Given the description of an element on the screen output the (x, y) to click on. 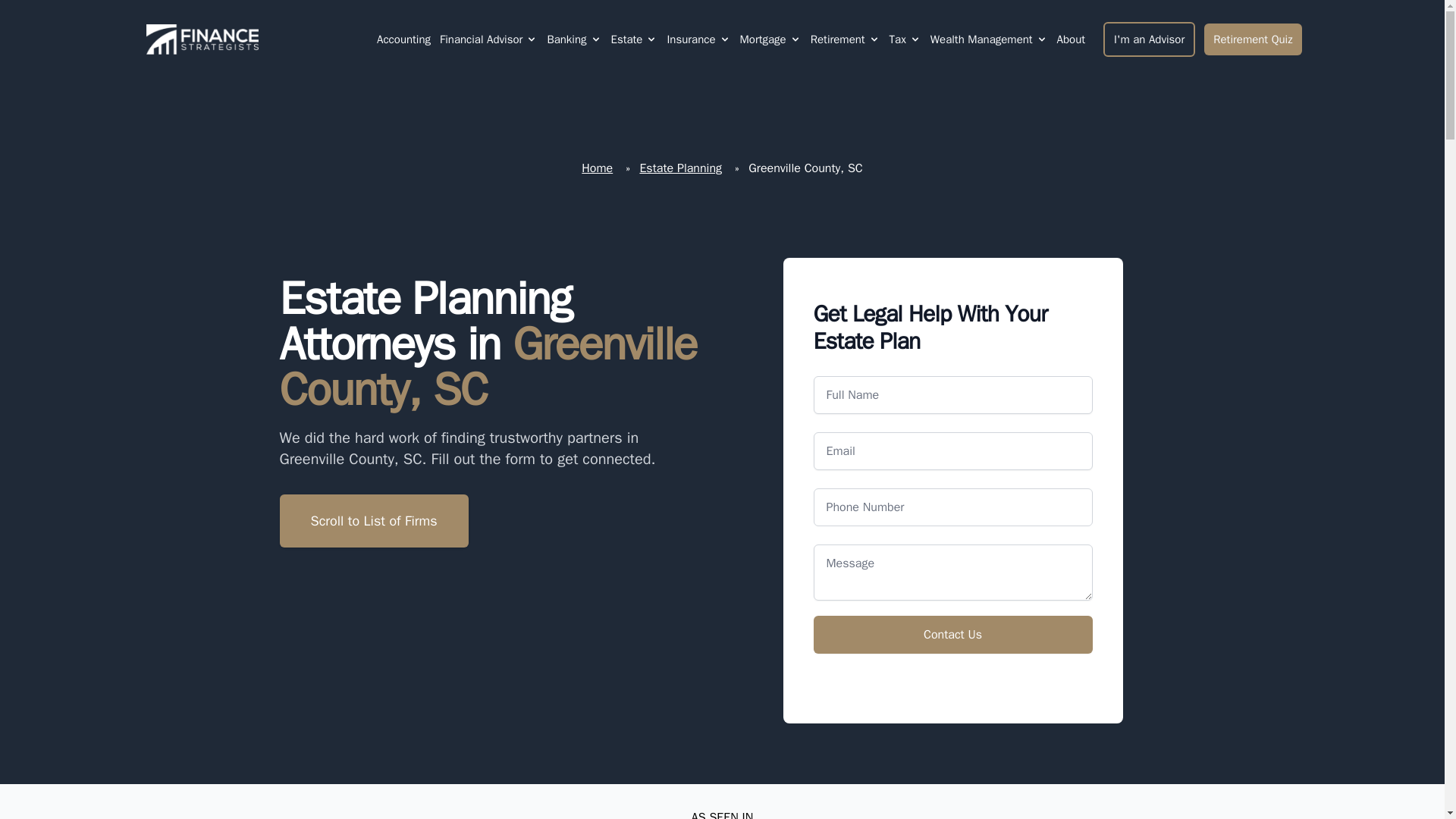
Financial Advisor (488, 39)
Banking (573, 39)
Accounting (403, 39)
Accounting (403, 39)
Finance Strategists (199, 39)
Banking (566, 39)
Financial Advisor (480, 39)
